Given the description of an element on the screen output the (x, y) to click on. 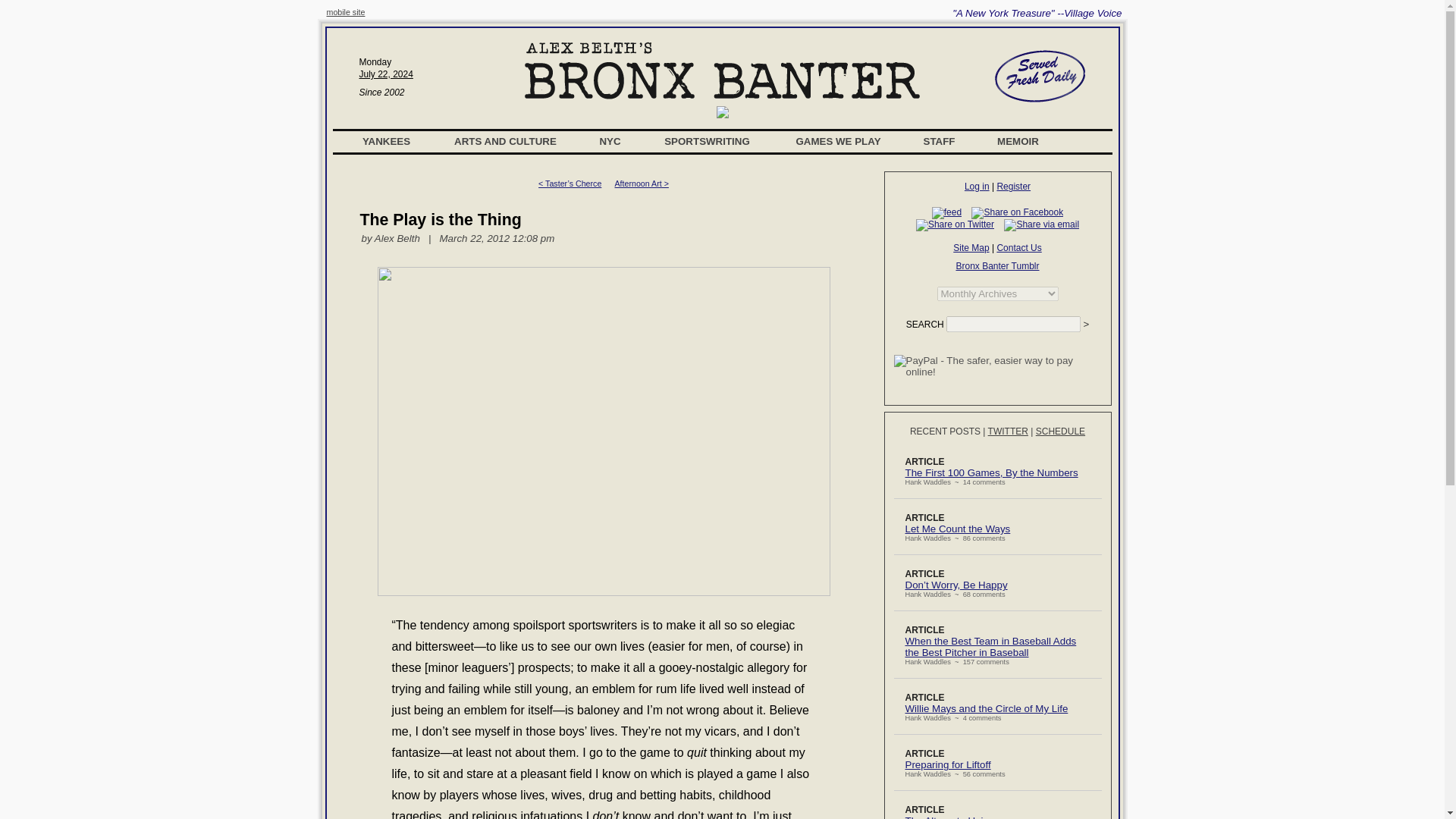
NYC (610, 141)
Share on Twitter (954, 224)
Permanent link to Let Me Count the Ways (957, 528)
Permanent link to Willie Mays and the Circle of My Life (986, 708)
Subscription feed (945, 213)
ARTS AND CULTURE (504, 141)
Share on Facebook (1016, 213)
Share via email (1041, 224)
Permanent link to Preparing for Liftoff (948, 764)
mobile site (345, 11)
Permanent link to The First 100 Games, By the Numbers (991, 472)
YANKEES (386, 141)
